Given the description of an element on the screen output the (x, y) to click on. 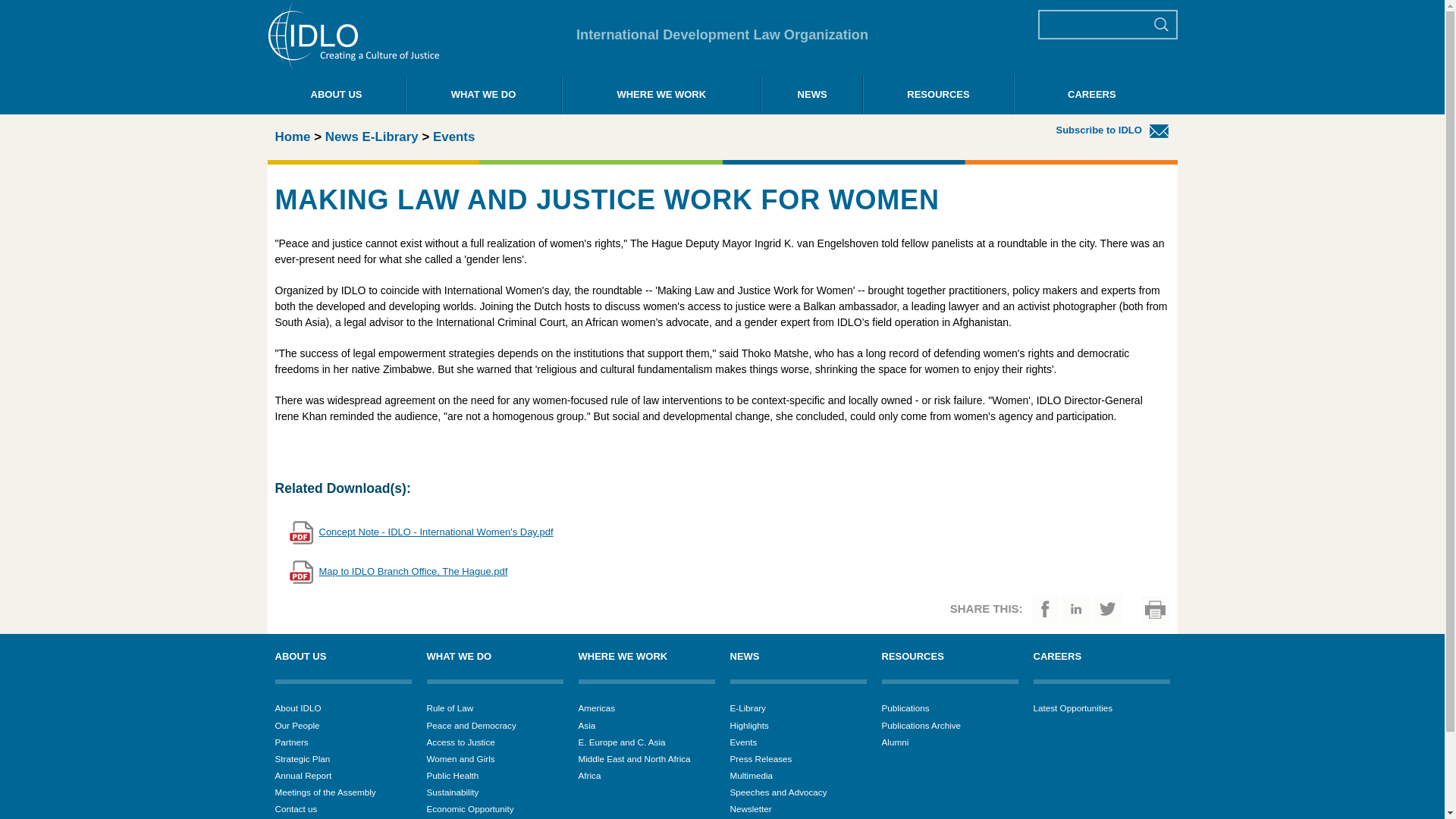
About Us (335, 94)
WHAT WE DO (483, 94)
Enter the terms you wish to search for. (1095, 24)
Skip to main content (693, 1)
IDLO (352, 67)
ABOUT US (335, 94)
